Given the description of an element on the screen output the (x, y) to click on. 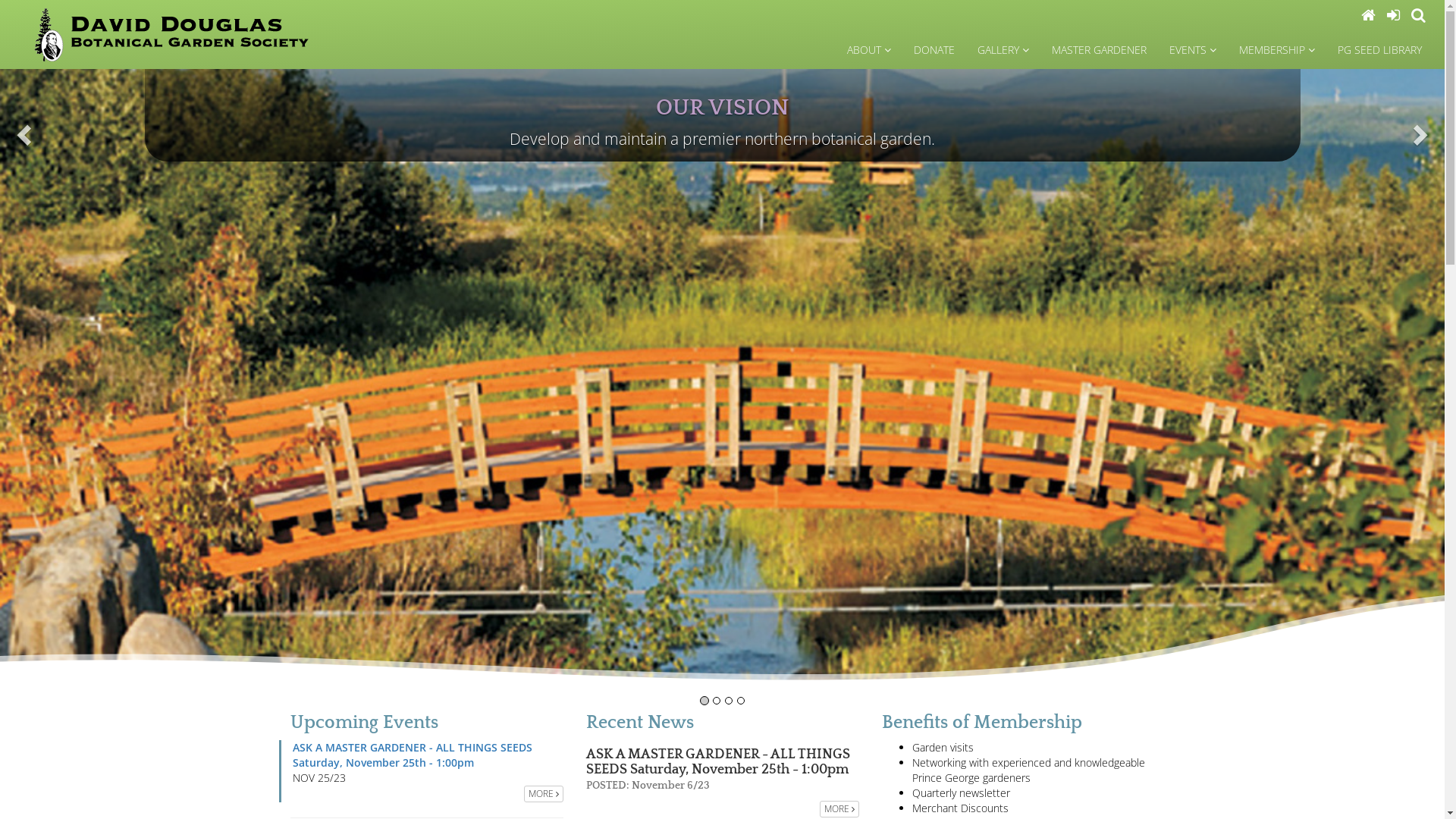
PG SEED LIBRARY Element type: text (1379, 50)
Next Element type: text (1335, 377)
MORE Element type: text (542, 793)
MEMBERSHIP Element type: text (1276, 50)
ABOUT Element type: text (868, 50)
DONATE Element type: text (934, 50)
MASTER GARDENER Element type: text (1098, 50)
EVENTS Element type: text (1192, 50)
MORE Element type: text (838, 808)
GALLERY Element type: text (1003, 50)
Previous Element type: text (108, 377)
Search this site Element type: hover (1418, 14)
